Given the description of an element on the screen output the (x, y) to click on. 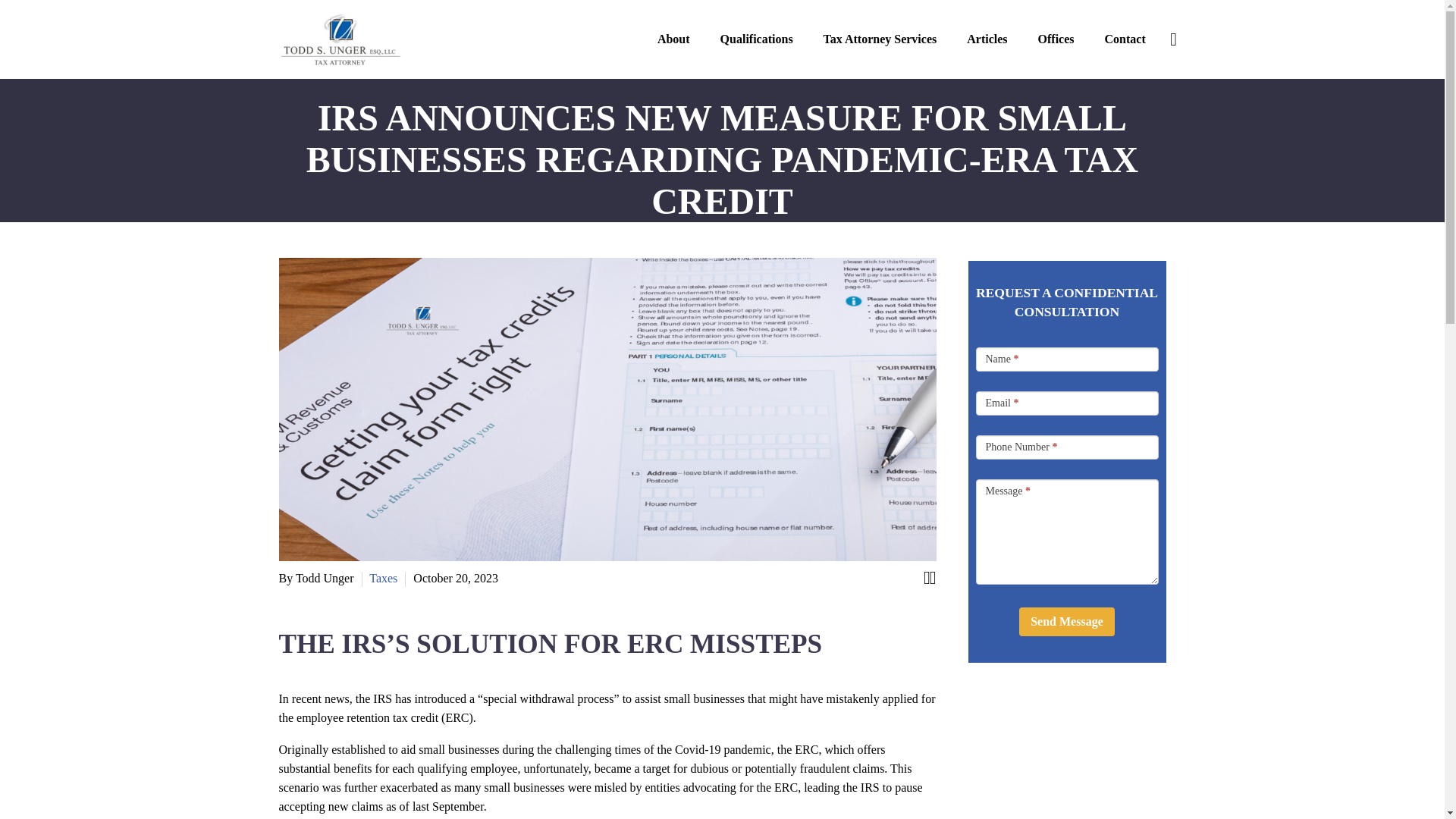
Articles (987, 38)
About (673, 38)
Taxes (383, 577)
View all posts in Taxes (383, 577)
Contact (1124, 38)
Qualifications (756, 38)
Offices (1056, 38)
Tax Attorney Services (880, 38)
